Given the description of an element on the screen output the (x, y) to click on. 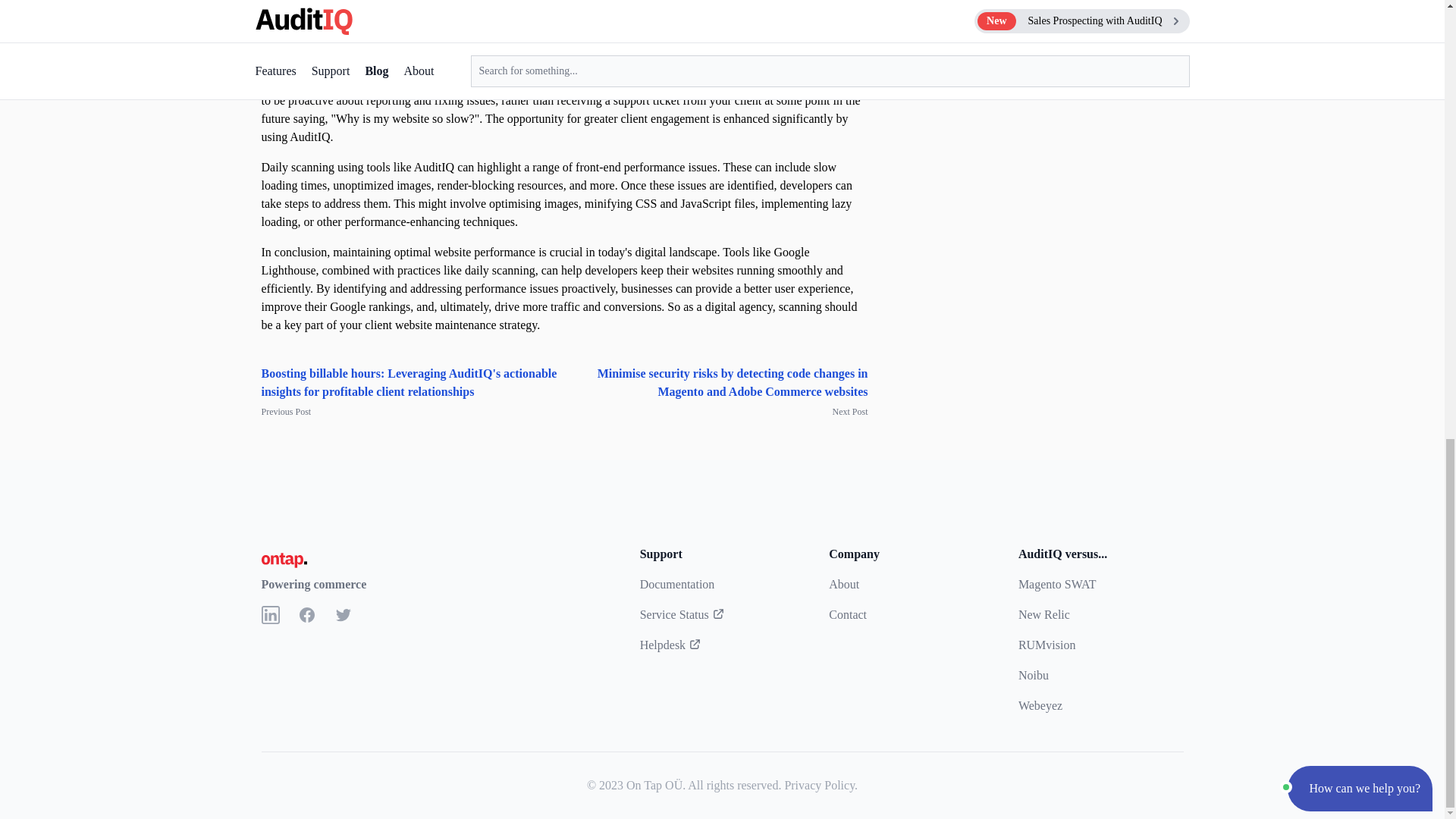
Service Status (682, 614)
Magento SWAT (1056, 584)
Noibu (1032, 675)
LinkedIn (269, 615)
Privacy Policy. (820, 784)
RUMvision (1046, 644)
Documentation (677, 584)
New Relic (1043, 614)
Webeyez (1039, 705)
About (843, 584)
Facebook (306, 615)
Twitter (342, 615)
